Given the description of an element on the screen output the (x, y) to click on. 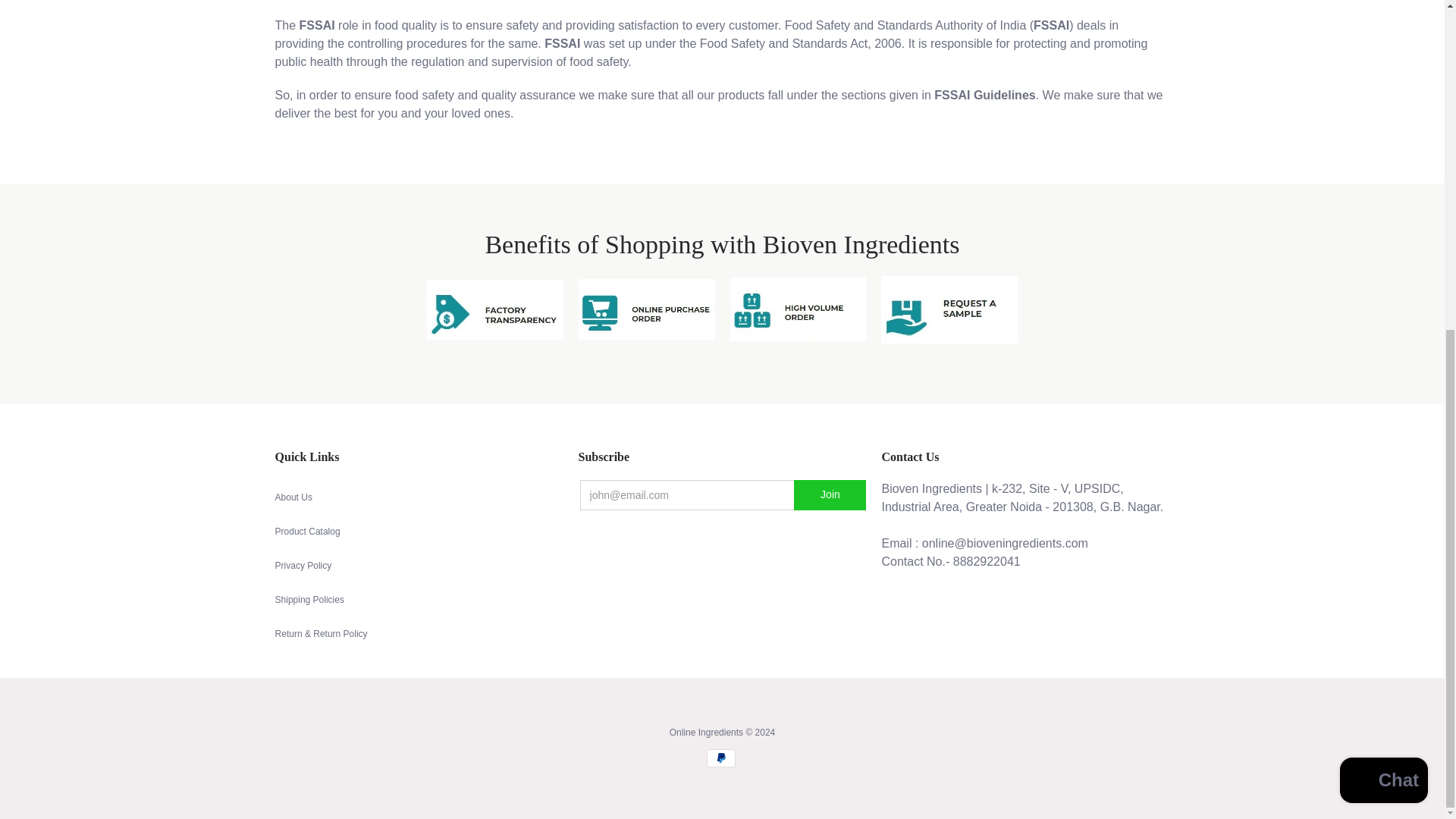
About Us (294, 497)
PayPal (720, 758)
Shipping Policies (309, 599)
Privacy Policy (303, 565)
Product Catalog (307, 531)
Join (829, 494)
Join (829, 494)
